Given the description of an element on the screen output the (x, y) to click on. 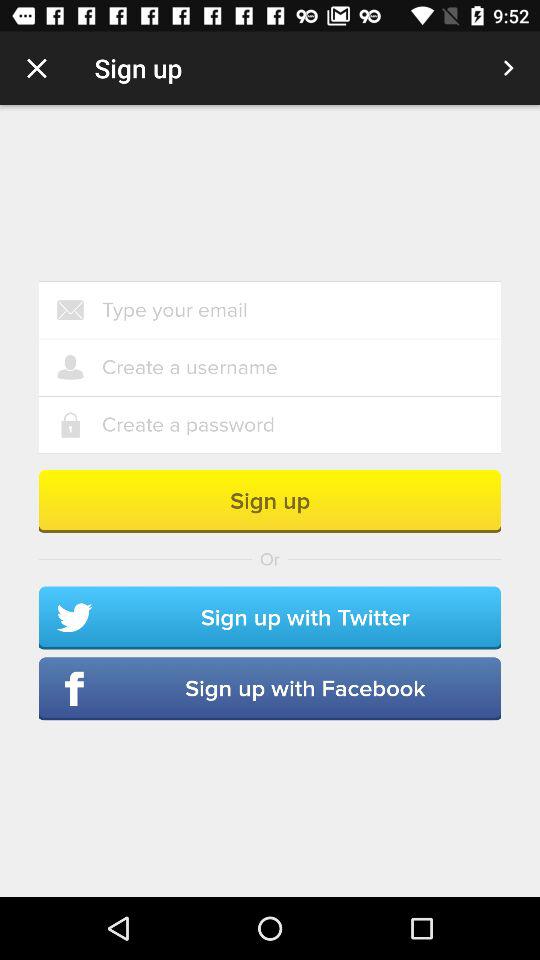
turn off the icon above sign up item (301, 424)
